Given the description of an element on the screen output the (x, y) to click on. 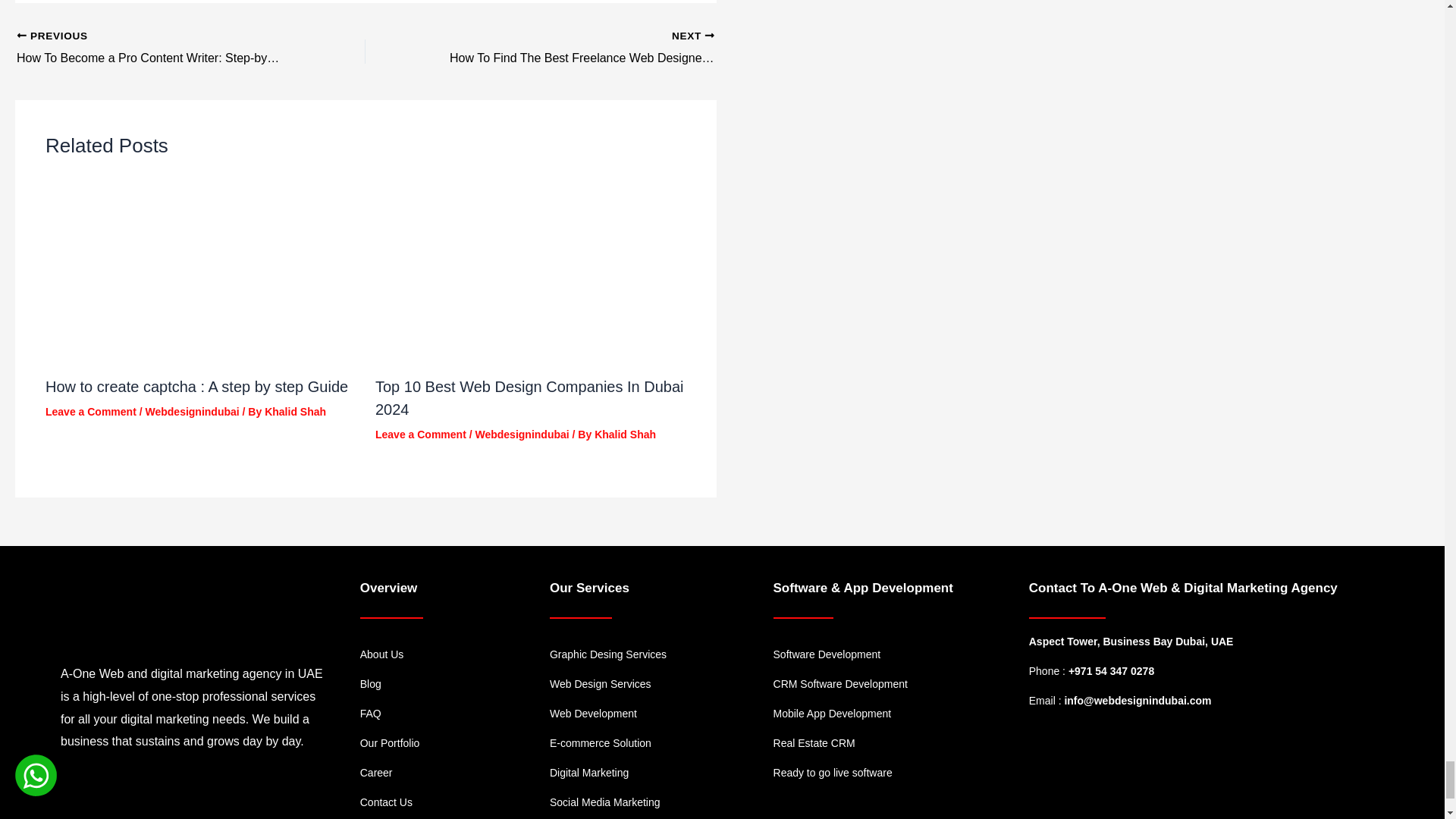
View all posts by Khalid Shah (295, 411)
View all posts by Khalid Shah (625, 434)
How To Become a Pro Content Writer: Step-by-Step Guide (156, 47)
How To Find The Best Freelance Web Designer In Dubai 2024 (573, 47)
